Given the description of an element on the screen output the (x, y) to click on. 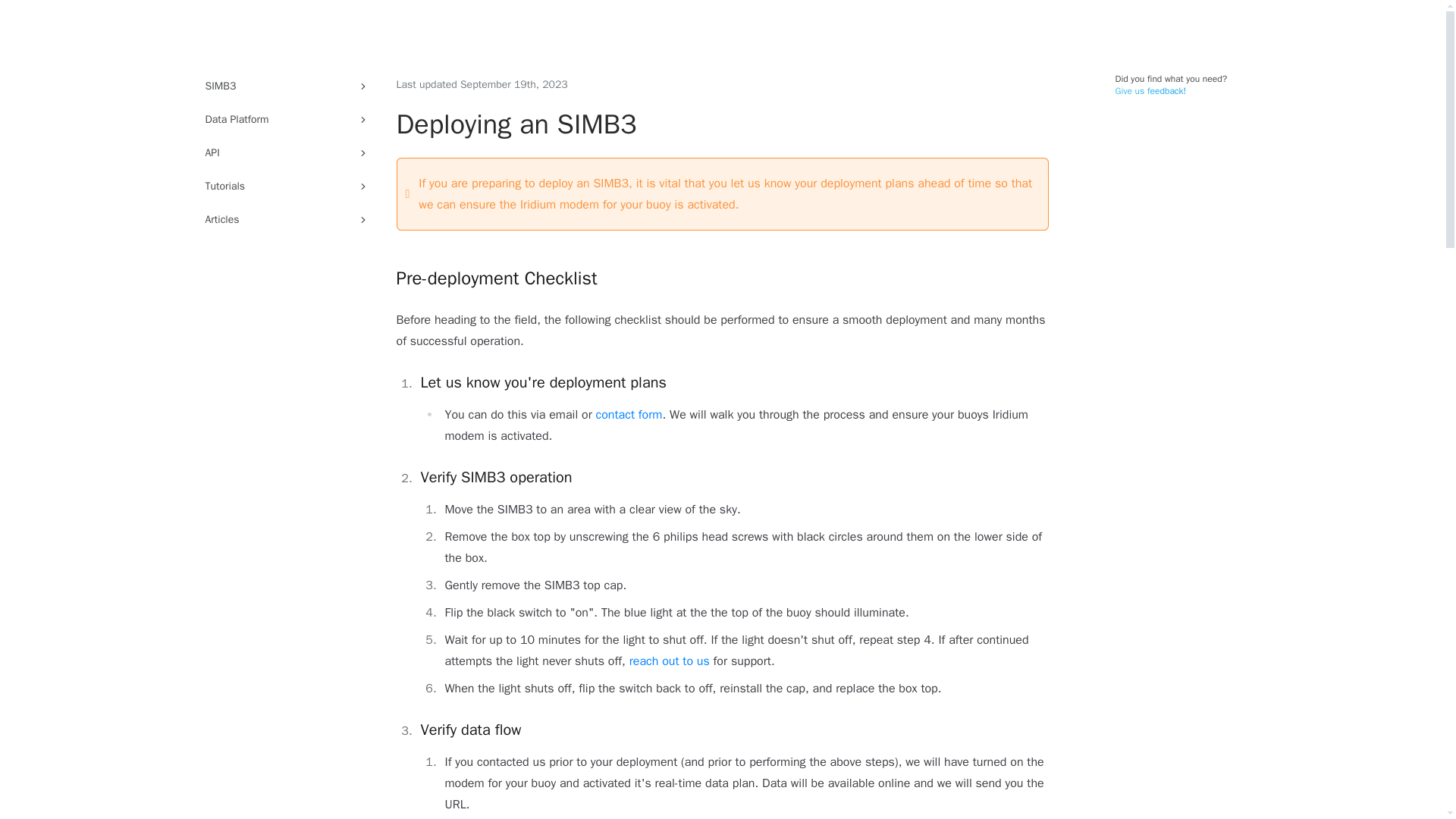
contact form (628, 414)
Last updated September 19th, 2023 (481, 84)
reach out to us (669, 661)
API (1171, 84)
